Given the description of an element on the screen output the (x, y) to click on. 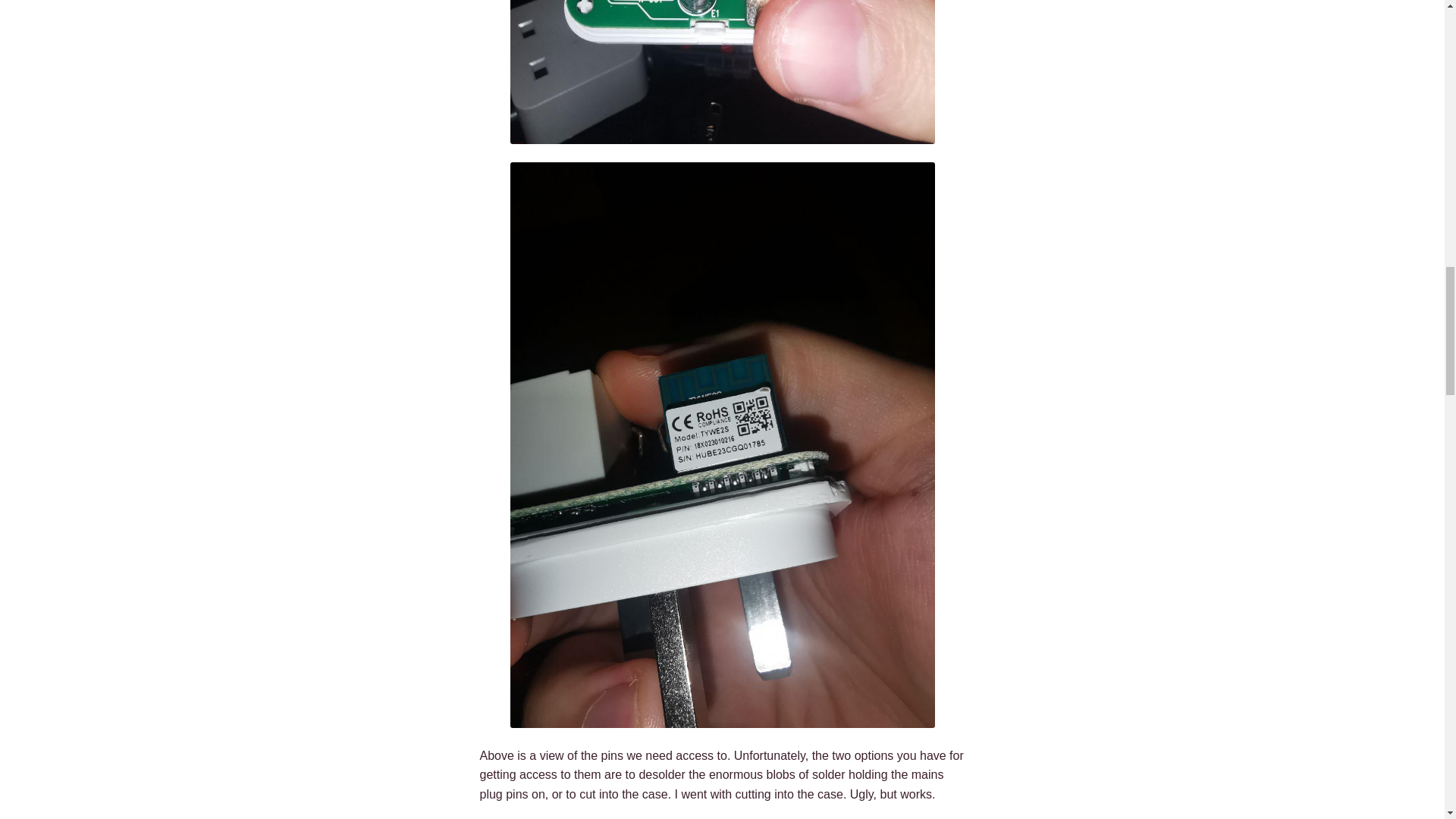
plug-board-1 (721, 72)
